Given the description of an element on the screen output the (x, y) to click on. 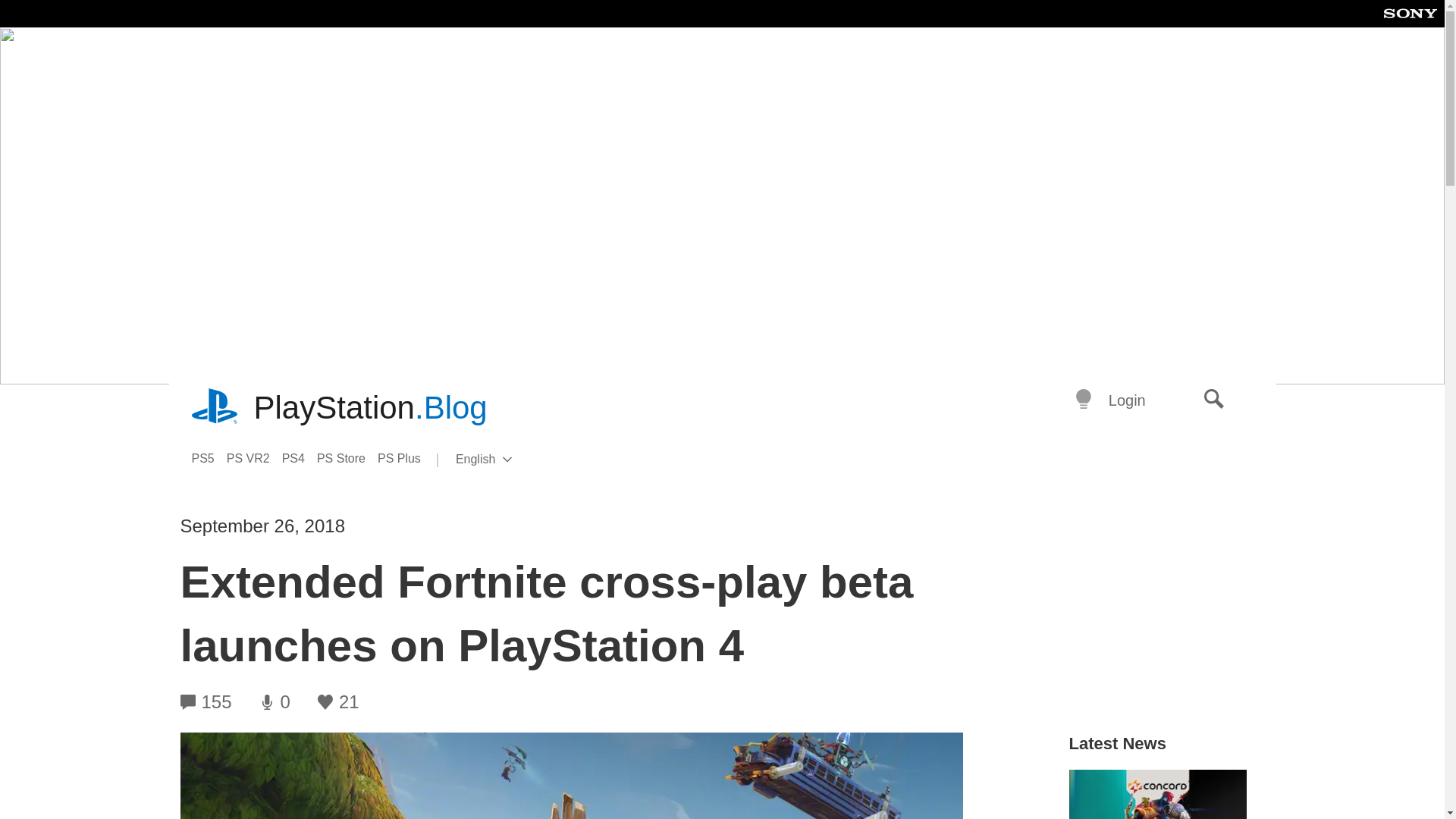
PS5 (207, 458)
playstation.com (215, 408)
PS4 (299, 458)
Login (1126, 400)
PlayStation.Blog (369, 407)
Skip to content (508, 459)
Search (254, 458)
PS Plus (1214, 400)
PS Store (404, 458)
